Given the description of an element on the screen output the (x, y) to click on. 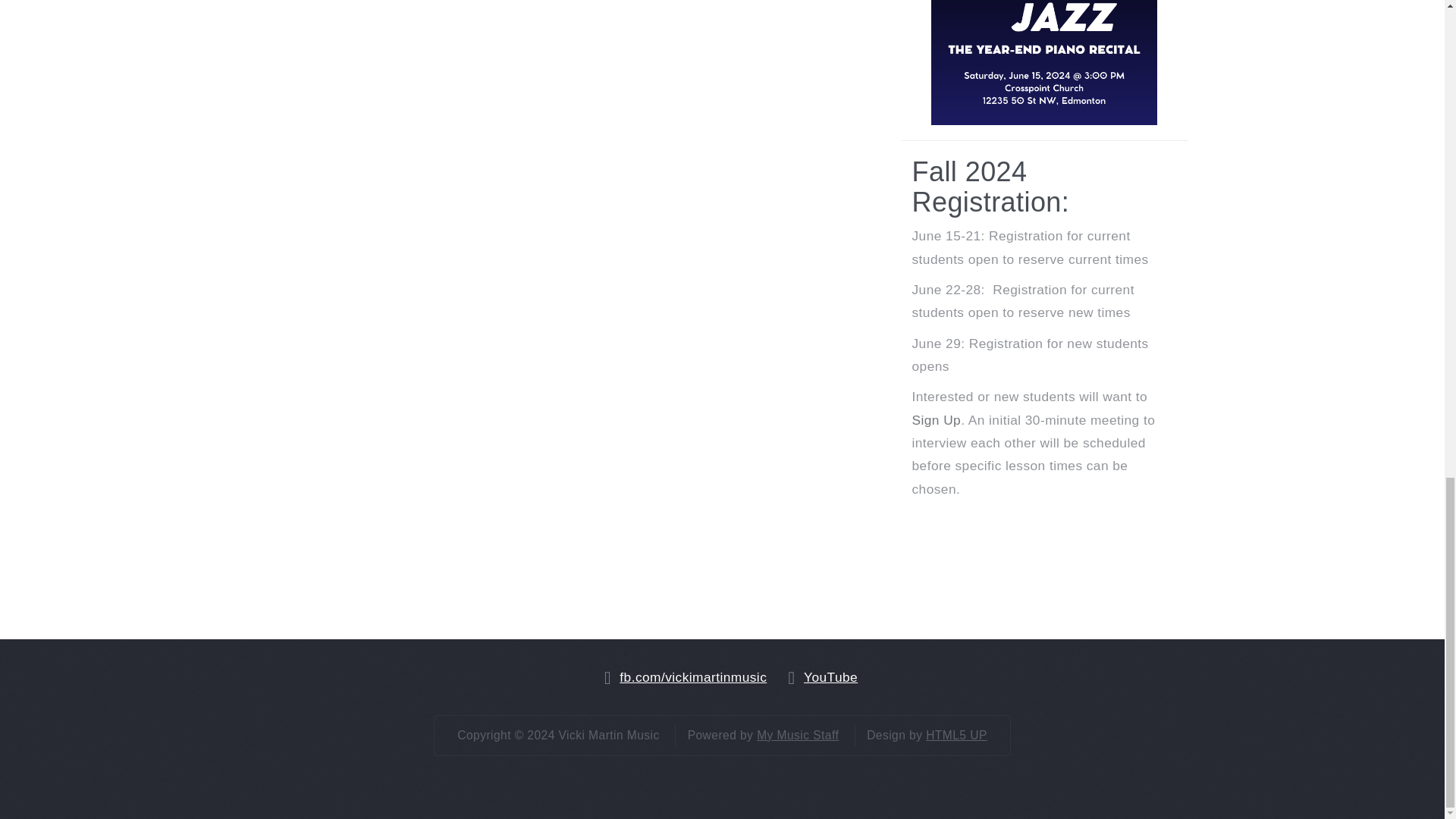
Sign Up (935, 419)
